Given the description of an element on the screen output the (x, y) to click on. 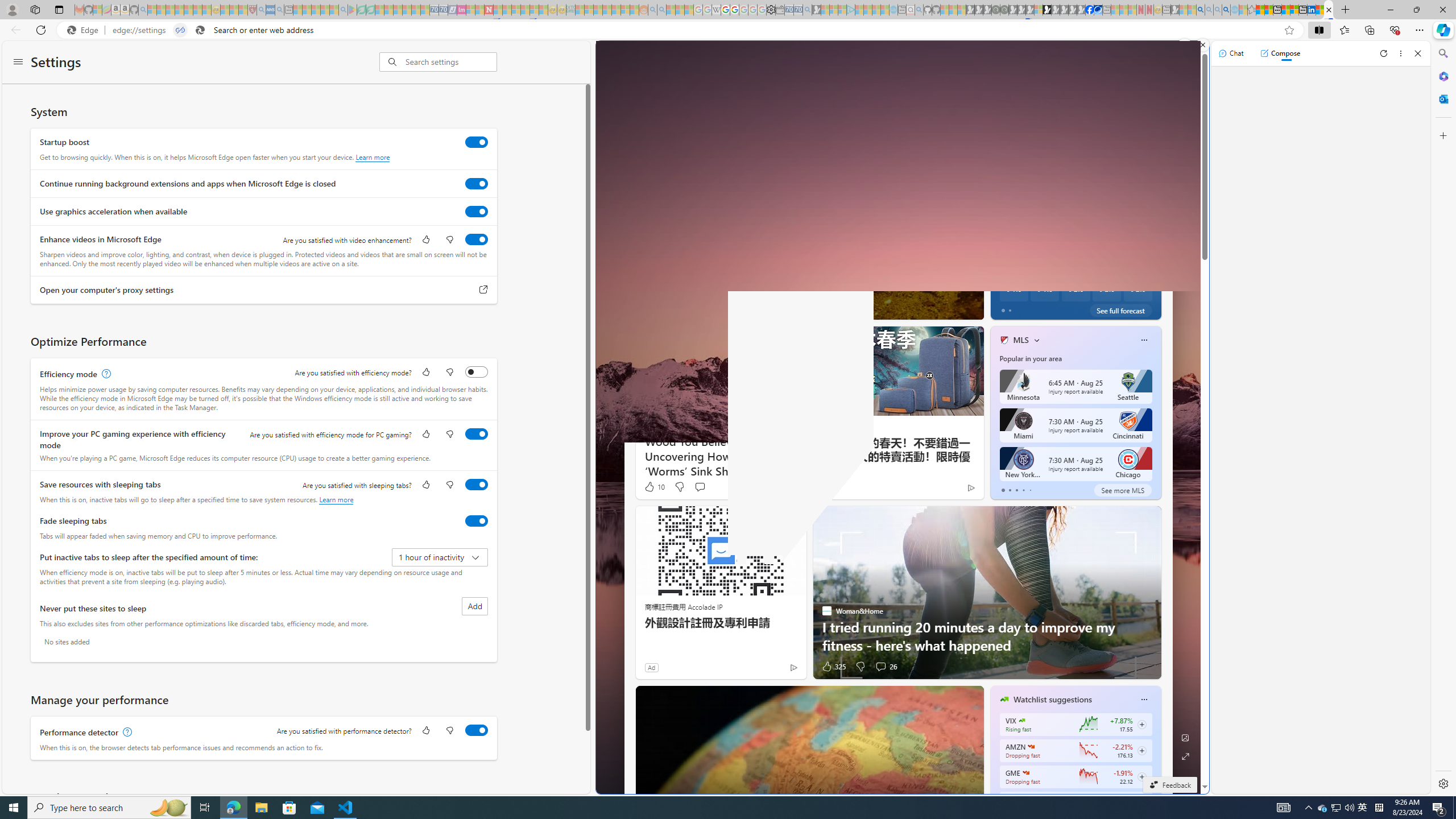
The Independent (999, 250)
3k Like (1005, 307)
39 Like (1005, 307)
What If (999, 269)
View comments 543 Comment (1057, 307)
Microsoft start (674, 59)
EatingWell (999, 250)
Page settings (1175, 59)
AutomationID: tab-21 (812, 308)
